Given the description of an element on the screen output the (x, y) to click on. 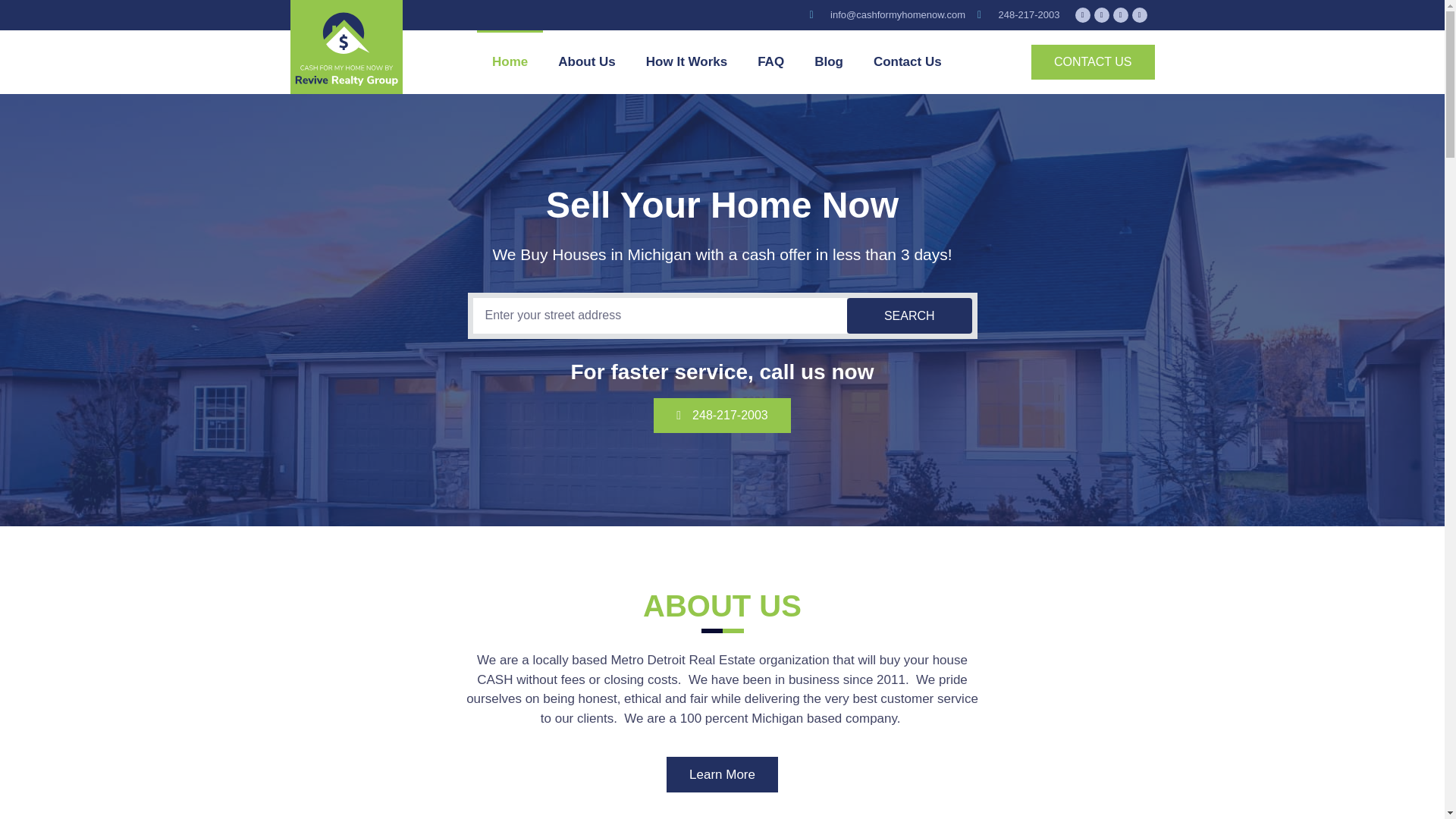
FAQ (770, 62)
CONTACT US (1092, 62)
248-217-2003 (721, 415)
Contact Us (907, 62)
248-217-2003 (1017, 14)
Home (510, 62)
About Us (586, 62)
Blog (829, 62)
How It Works (686, 62)
SEARCH (909, 315)
